Given the description of an element on the screen output the (x, y) to click on. 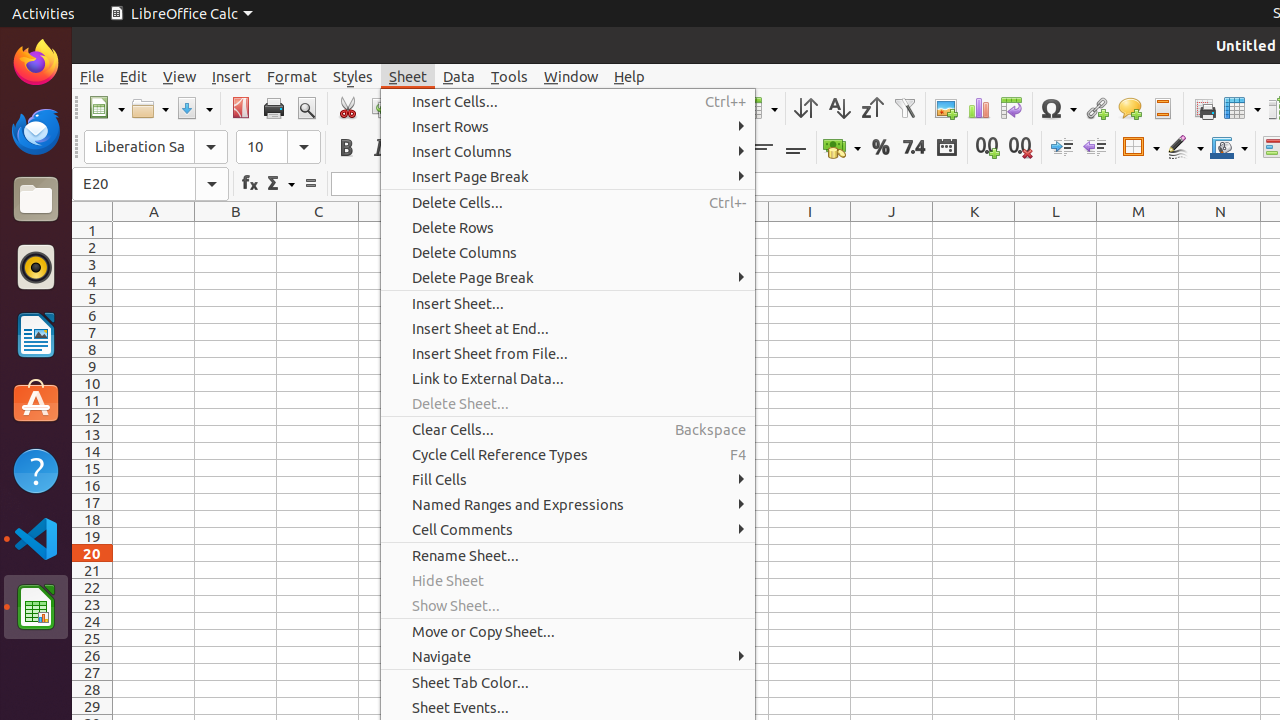
Move or Copy Sheet... Element type: menu-item (568, 631)
Insert Sheet... Element type: menu-item (568, 303)
Delete Sheet... Element type: menu-item (568, 402)
Headers and Footers Element type: push-button (1162, 108)
Help Element type: push-button (36, 470)
